Given the description of an element on the screen output the (x, y) to click on. 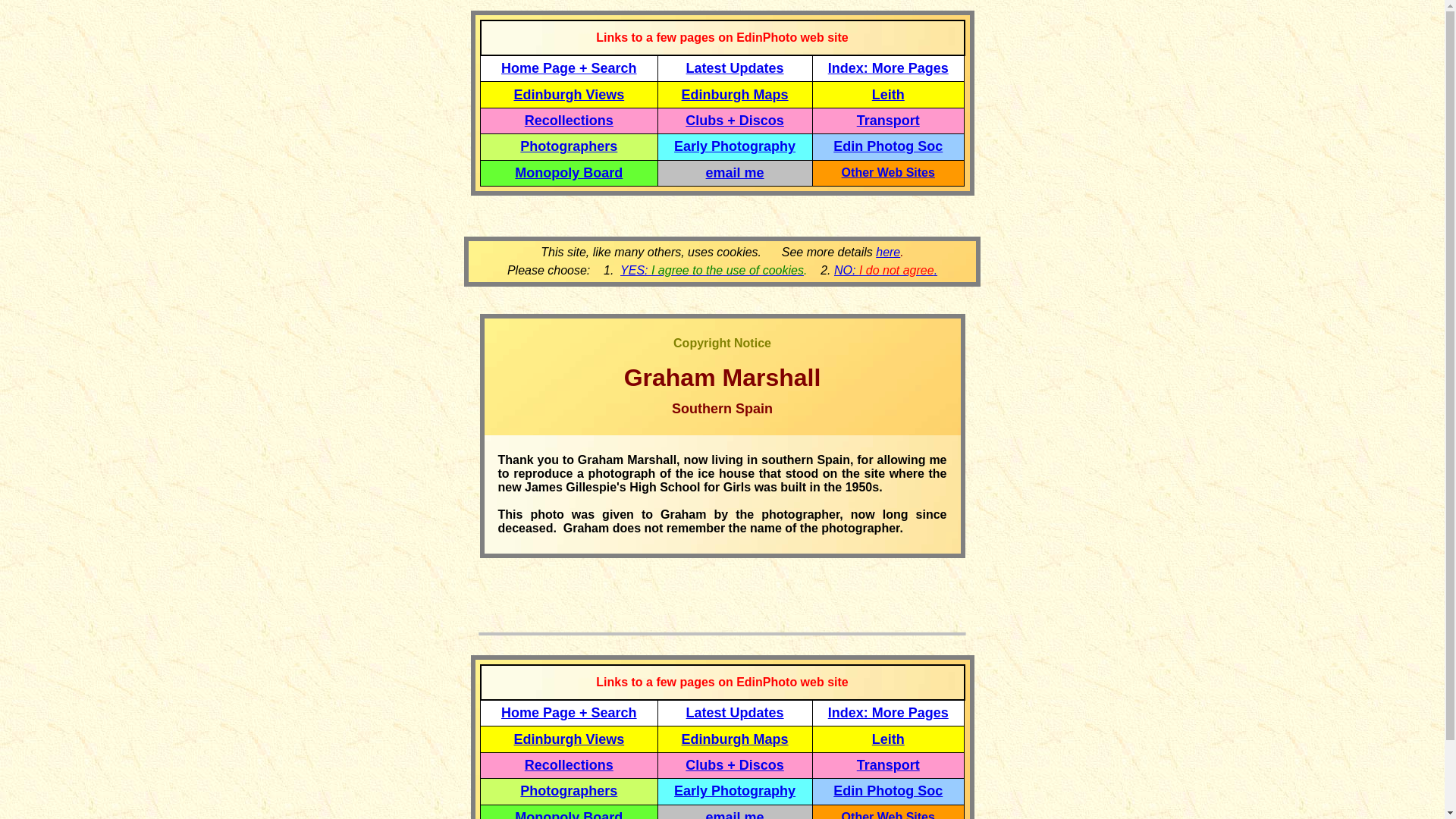
Early Photography (734, 145)
Edin Photog Soc (887, 145)
Leith (888, 94)
Index: More Pages (888, 68)
Edinburgh Maps (735, 739)
Recollections (568, 765)
Recollections (568, 120)
Monopoly Board (569, 814)
NO: I do not agree. (885, 269)
Photographers (568, 790)
Other Web Sites (887, 814)
Edinburgh Maps (735, 94)
Other Web Sites (887, 172)
Transport (888, 120)
Transport (888, 765)
